Given the description of an element on the screen output the (x, y) to click on. 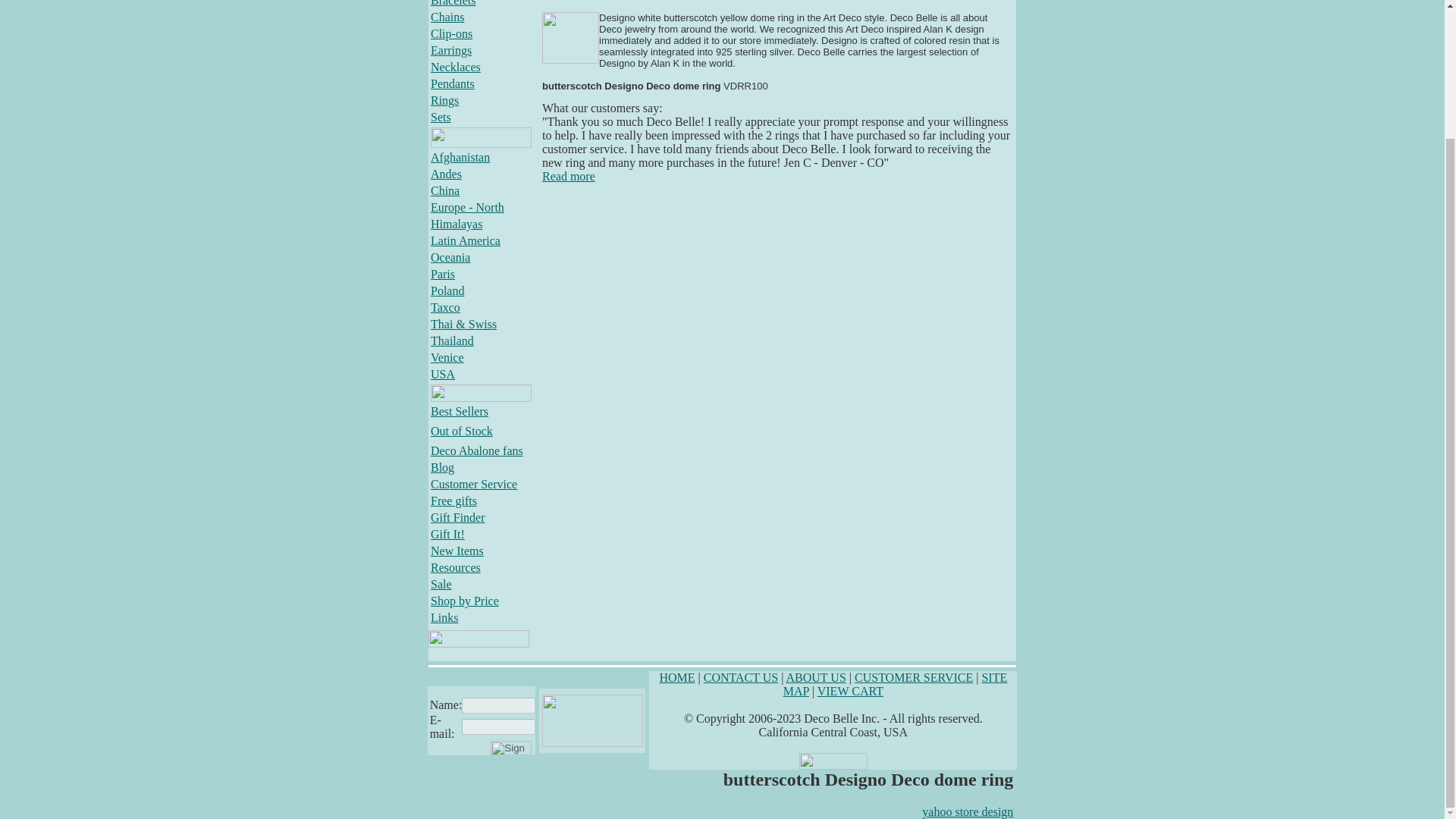
Sale (440, 584)
Paris (442, 273)
Latin America (465, 240)
Earrings (450, 50)
Europe - North (466, 206)
Gift Finder (457, 517)
Out of Stock (461, 431)
Rings (444, 100)
Necklaces (455, 66)
Oceania (450, 256)
Taxco (445, 307)
Bracelets (453, 3)
Resources (455, 567)
Best Sellers (458, 410)
New Items (456, 550)
